Given the description of an element on the screen output the (x, y) to click on. 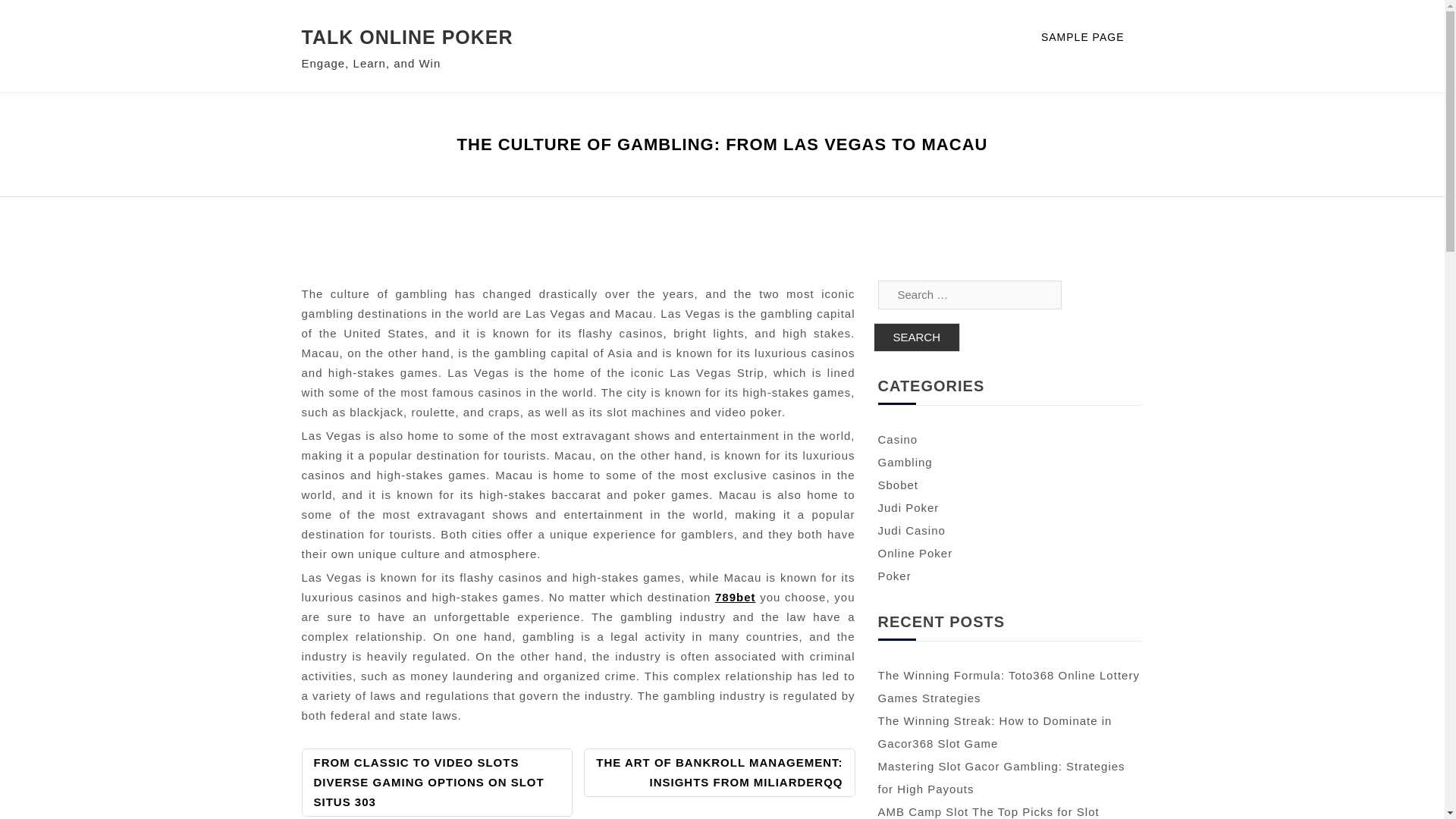
Search (916, 337)
TALK ONLINE POKER (407, 36)
Search (916, 337)
Gambling (905, 461)
SAMPLE PAGE (1091, 37)
Judi Casino (910, 530)
Casino (897, 439)
THE ART OF BANKROLL MANAGEMENT: INSIGHTS FROM MILIARDERQQ (719, 772)
The Winning Formula: Toto368 Online Lottery Games Strategies (1008, 686)
